Given the description of an element on the screen output the (x, y) to click on. 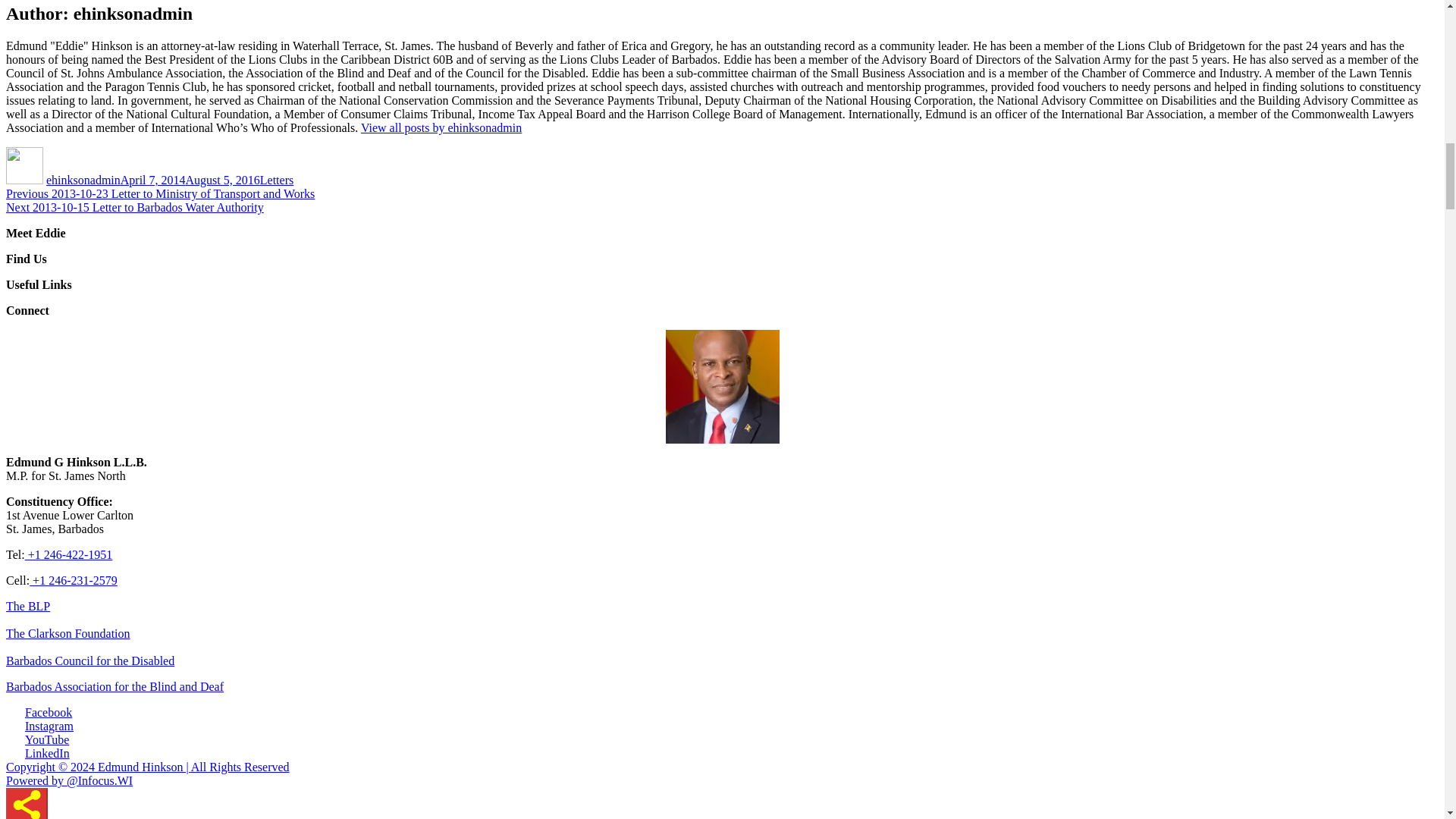
Letters (277, 179)
April 7, 2014August 5, 2016 (190, 179)
ehinksonadmin (83, 179)
Barbados Council for the Disabled (89, 660)
The BLP (27, 605)
The Clarkson Foundation (68, 633)
Share (26, 803)
Barbados Association for the Blind and Deaf (114, 686)
View all posts by ehinksonadmin (441, 127)
